Given the description of an element on the screen output the (x, y) to click on. 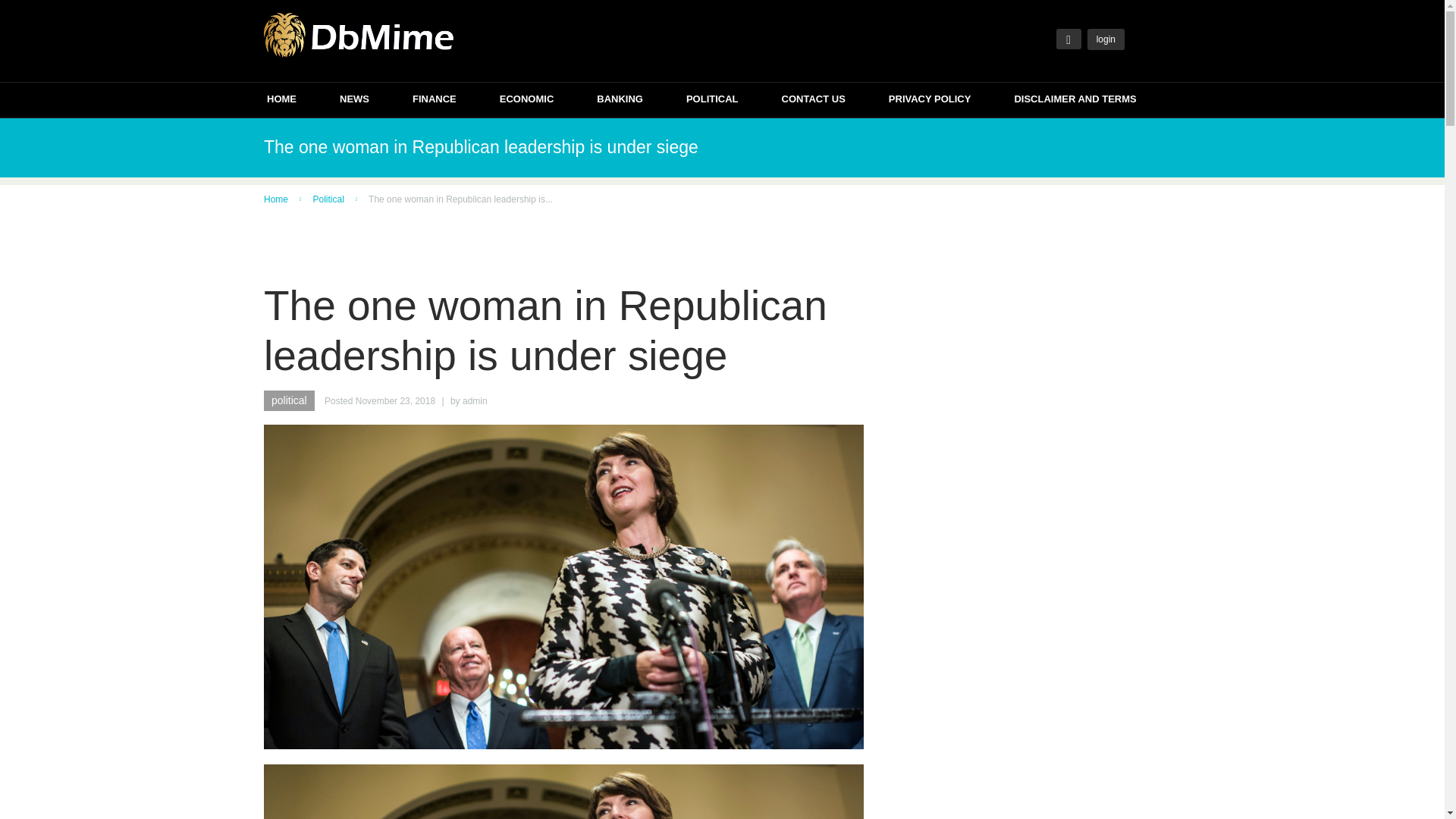
HOME (281, 100)
Home (275, 199)
admin (475, 400)
Political (328, 199)
PRIVACY POLICY (929, 100)
POLITICAL (711, 100)
login (1105, 38)
November 23, 2018 (395, 400)
NEWS (354, 100)
ECONOMIC (526, 100)
CONTACT US (813, 100)
political (288, 400)
BANKING (620, 100)
FINANCE (434, 100)
DISCLAIMER AND TERMS (1074, 100)
